Given the description of an element on the screen output the (x, y) to click on. 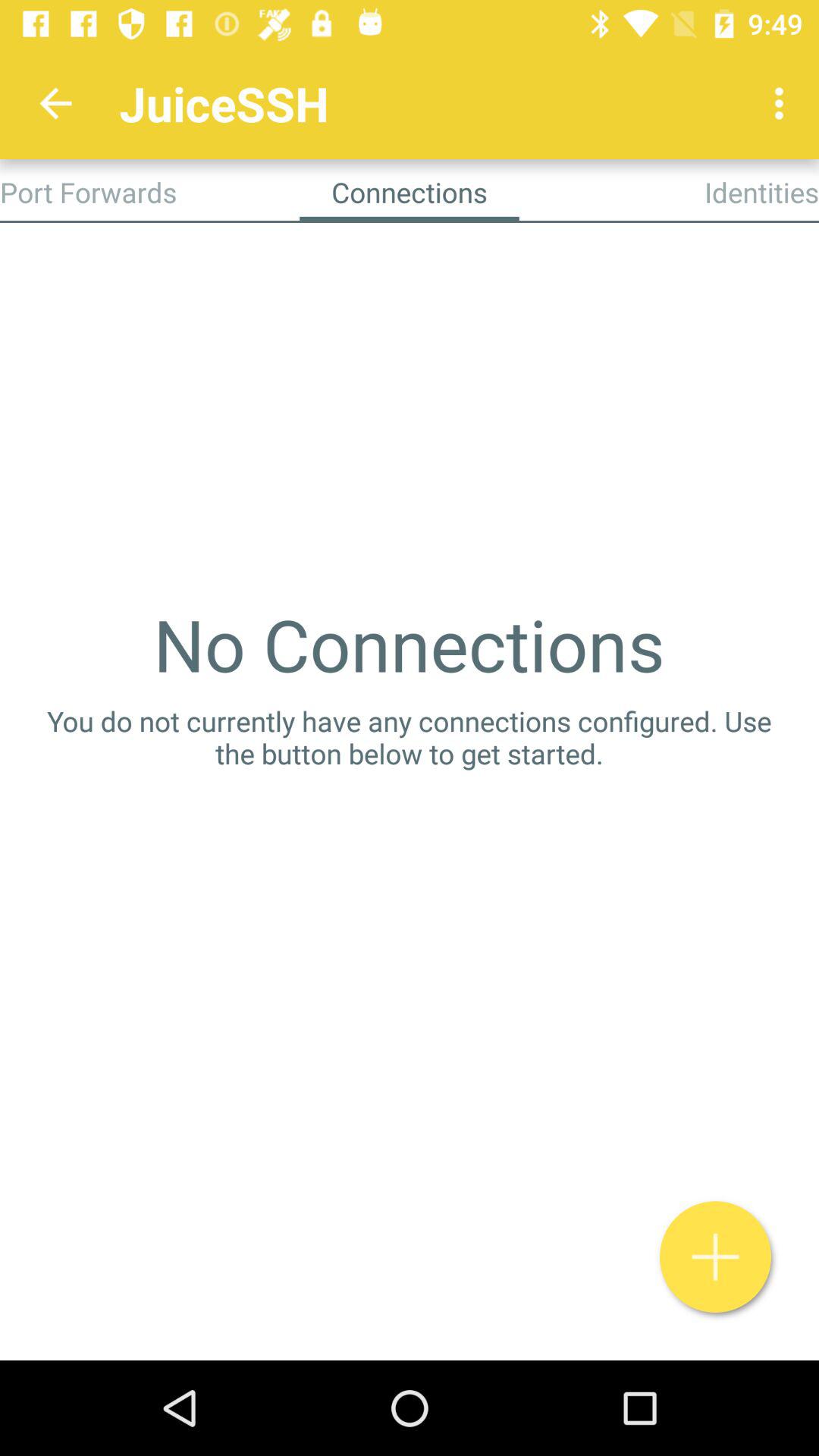
tap the icon above port forwards app (55, 103)
